Given the description of an element on the screen output the (x, y) to click on. 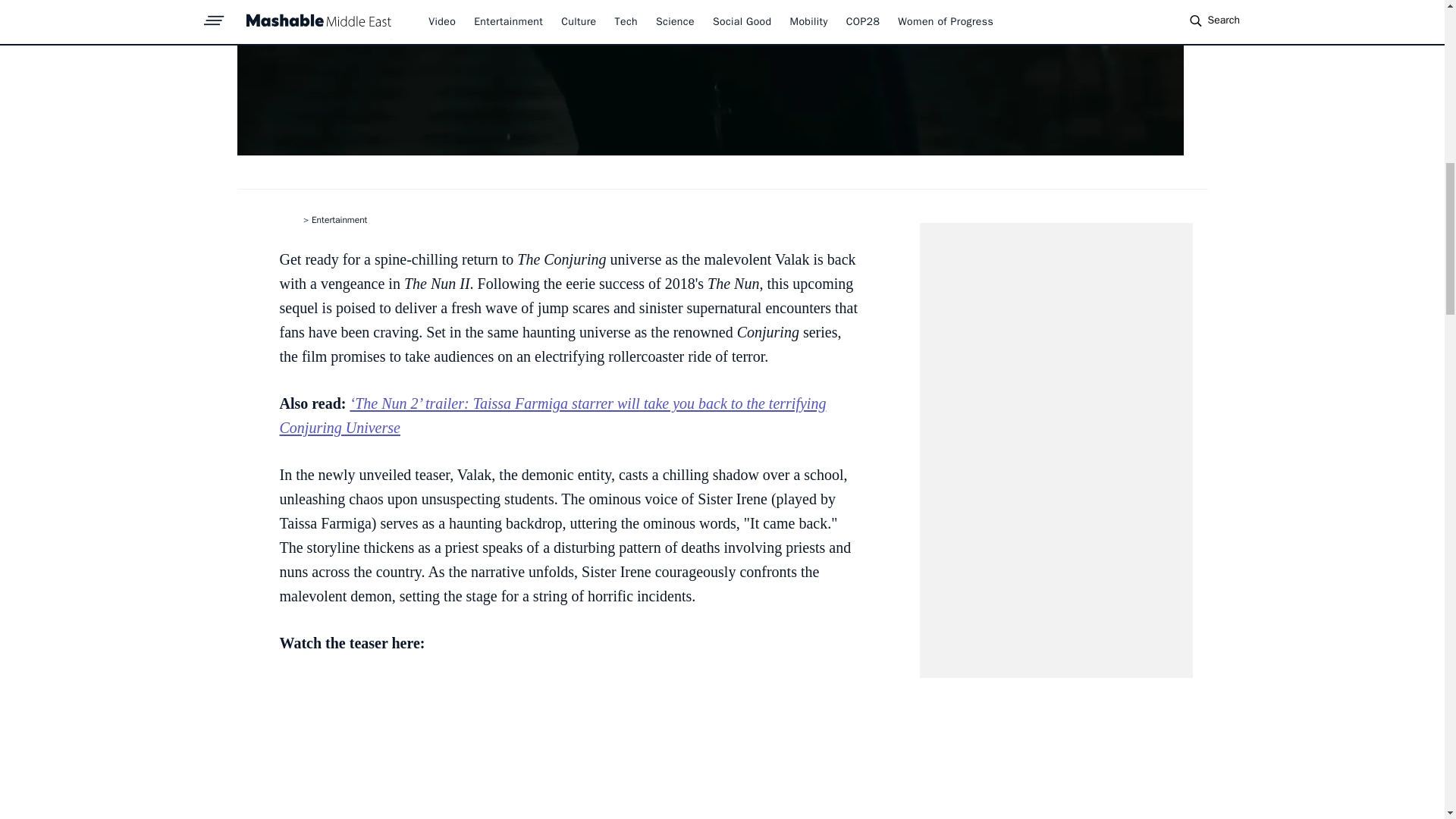
YouTube video player (570, 748)
